Given the description of an element on the screen output the (x, y) to click on. 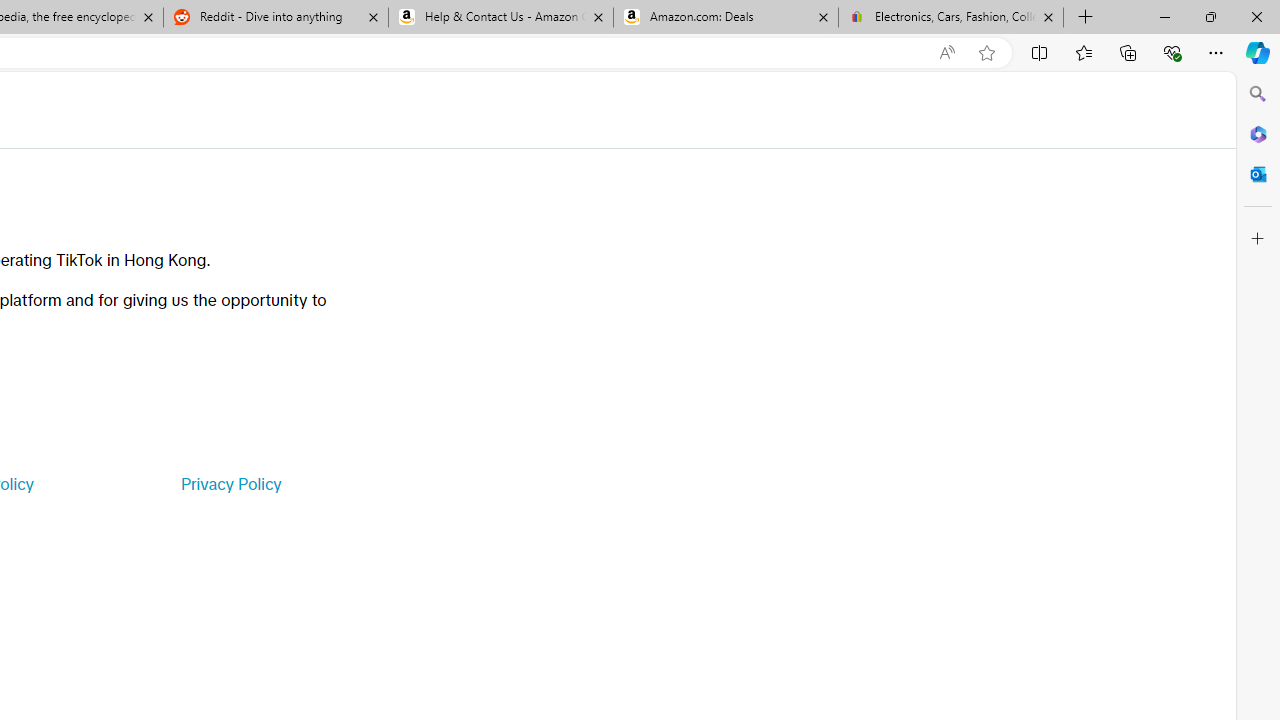
Help & Contact Us - Amazon Customer Service (501, 17)
